Given the description of an element on the screen output the (x, y) to click on. 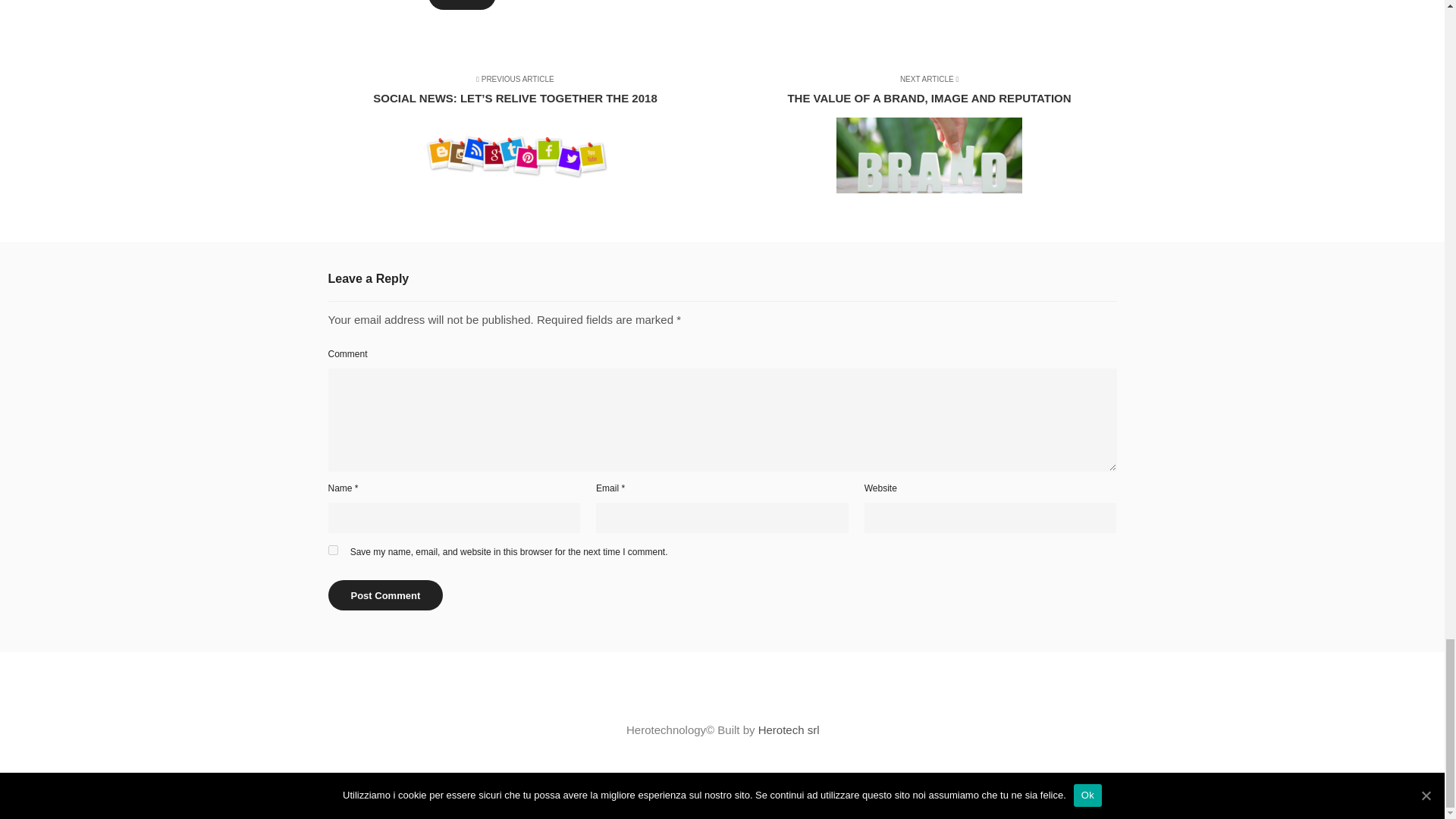
Invia (462, 4)
yes (919, 135)
Herotech srl (332, 550)
Post Comment (788, 729)
Post Comment (384, 594)
